Given the description of an element on the screen output the (x, y) to click on. 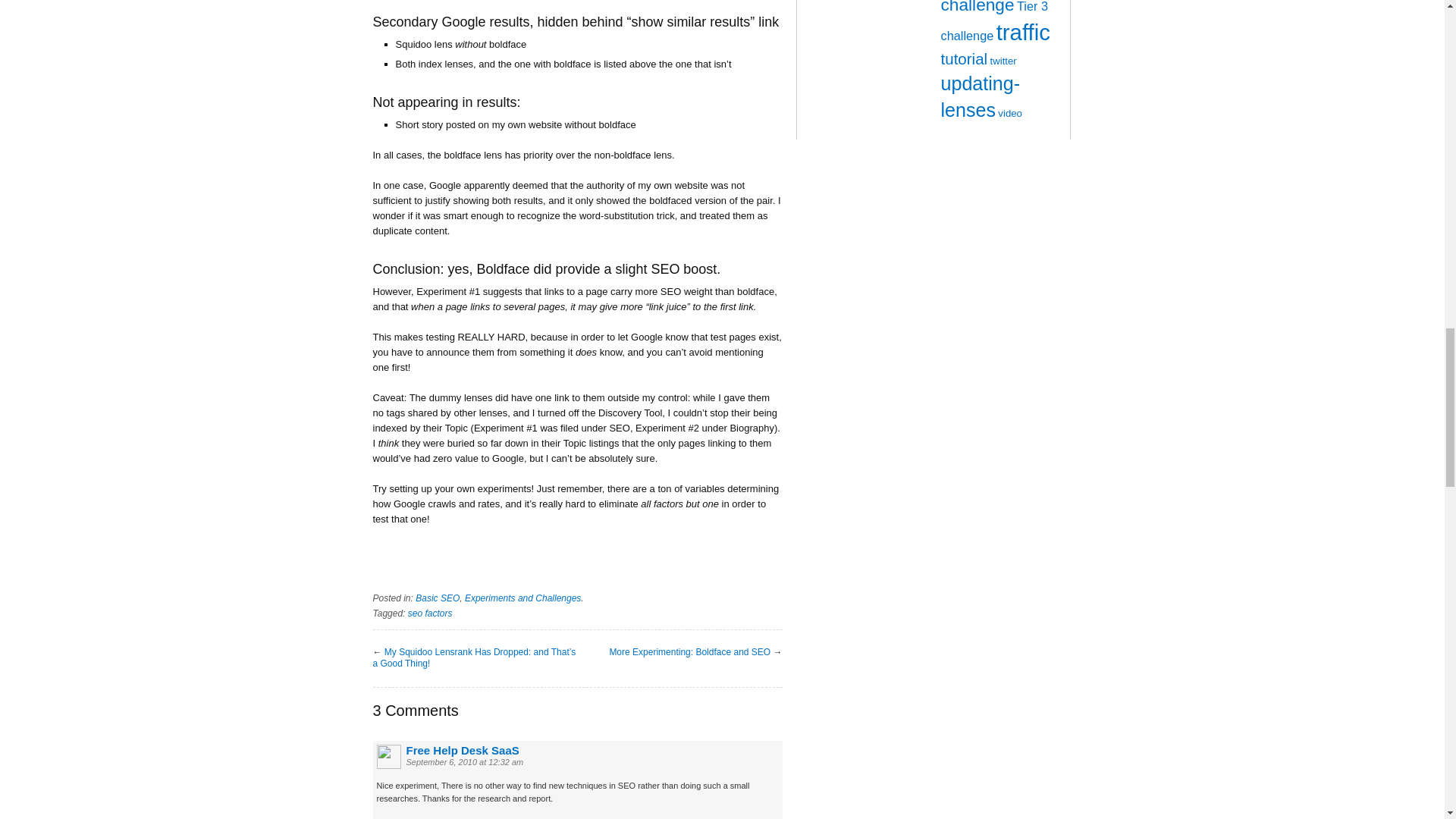
seo factors (429, 613)
September 6, 2010 at 12:32 am (465, 761)
More Experimenting: Boldface and SEO (689, 652)
Reply (388, 818)
Basic SEO (437, 597)
Free Help Desk SaaS (462, 749)
Experiments and Challenges (522, 597)
